Given the description of an element on the screen output the (x, y) to click on. 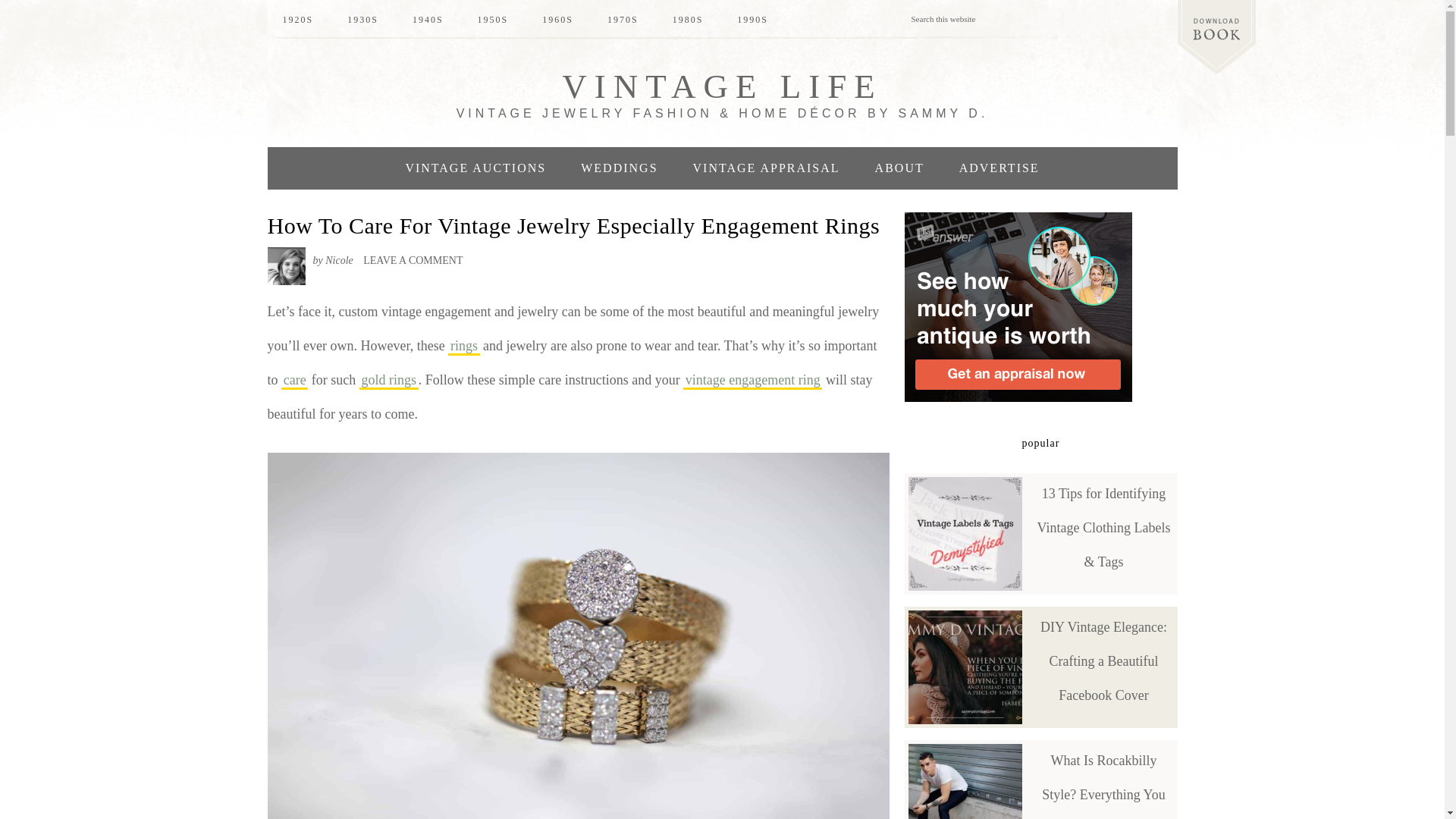
VINTAGE LIFE (722, 86)
WEDDINGS (619, 168)
ABOUT (899, 168)
1930S (362, 19)
1940S (427, 19)
ADVERTISE (998, 168)
